Given the description of an element on the screen output the (x, y) to click on. 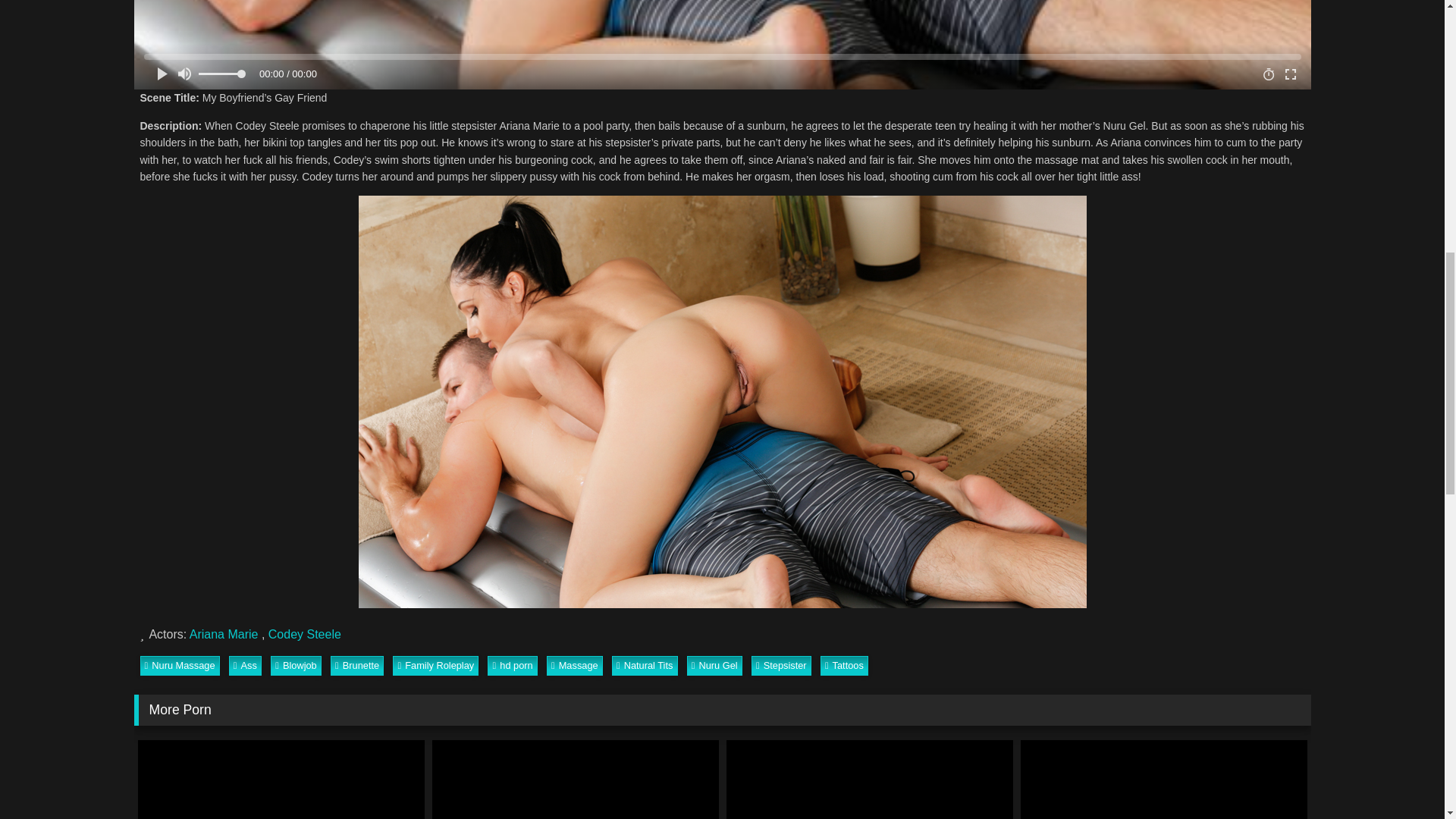
Nuru Massage: Almost Caught at Spa with London River! (1163, 779)
Ass (245, 665)
Nuru Gel (714, 665)
Codey Steele (303, 634)
Codey Steele (303, 634)
Stepsister (780, 665)
Natural Tits (644, 665)
Nuru Massage (179, 665)
